Given the description of an element on the screen output the (x, y) to click on. 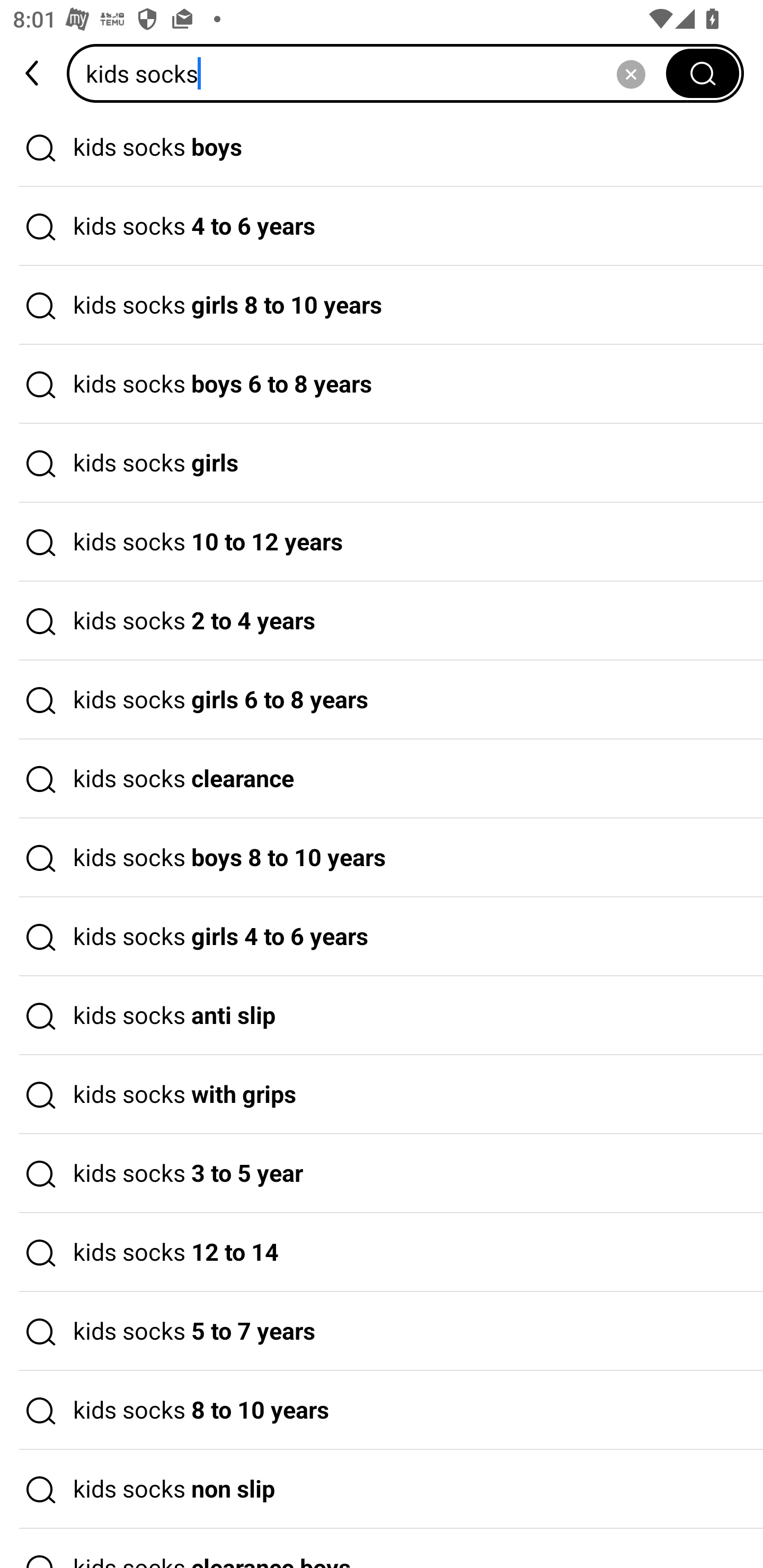
back (33, 72)
kids socks (372, 73)
Delete search history (630, 73)
kids socks boys (381, 147)
kids socks 4 to 6 years (381, 226)
kids socks girls 8 to 10 years (381, 305)
kids socks boys 6 to 8 years (381, 383)
kids socks girls (381, 463)
kids socks 10 to 12 years (381, 542)
kids socks 2 to 4 years (381, 620)
kids socks girls 6 to 8 years (381, 700)
kids socks clearance (381, 779)
kids socks boys 8 to 10 years (381, 857)
kids socks girls 4 to 6 years (381, 936)
kids socks anti slip (381, 1015)
kids socks with grips (381, 1094)
kids socks 3 to 5 year (381, 1173)
kids socks 12 to 14 (381, 1252)
kids socks 5 to 7 years (381, 1331)
